Given the description of an element on the screen output the (x, y) to click on. 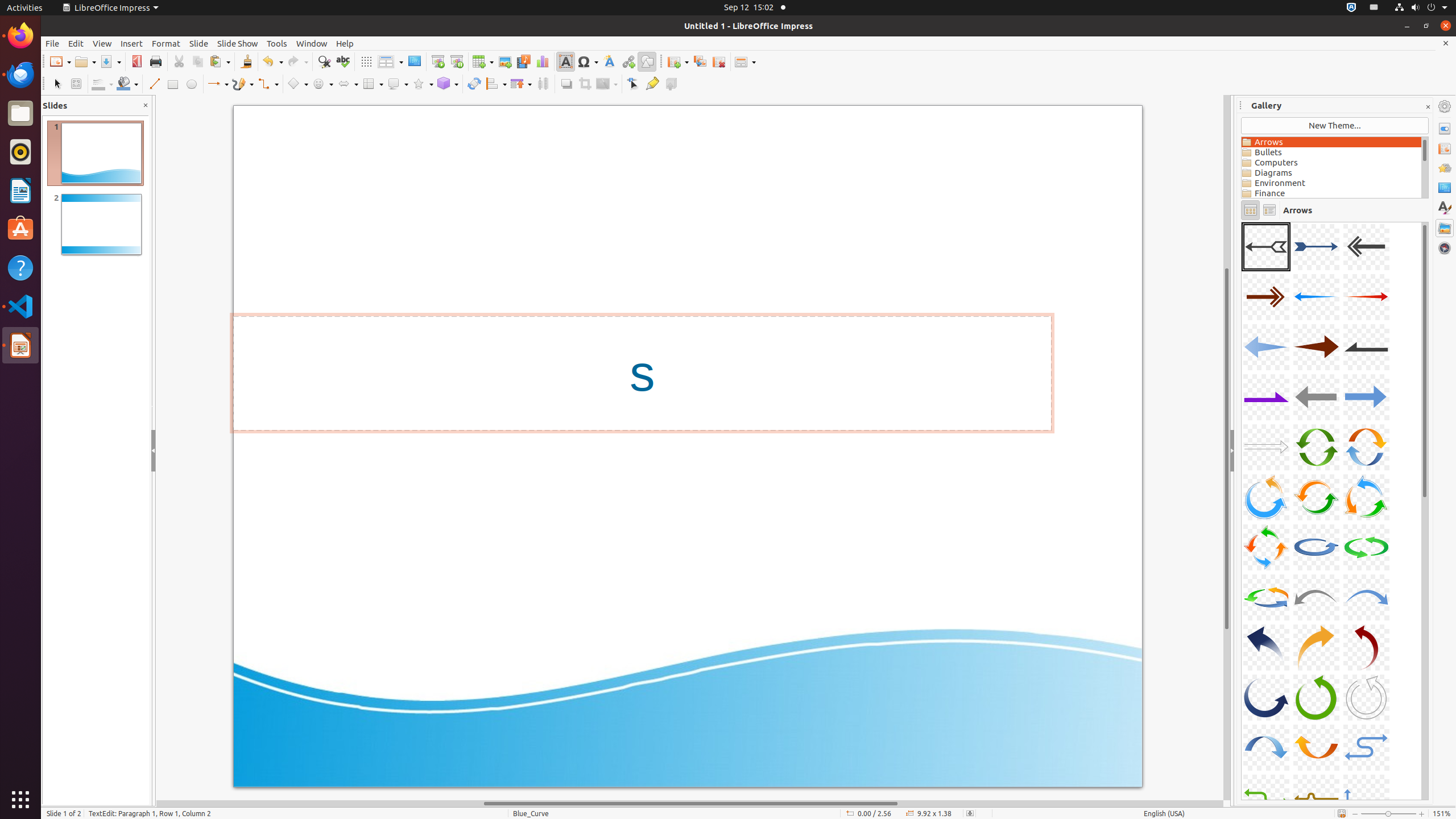
Toggle Extrusion Element type: push-button (670, 83)
A34-CurvedArrow-Green-TwoDirections Element type: list-item (1241, 222)
A33-CurvedArrow-LightBlue-TwoDirections Element type: list-item (1365, 746)
:1.21/StatusNotifierItem Element type: menu (1373, 7)
